Given the description of an element on the screen output the (x, y) to click on. 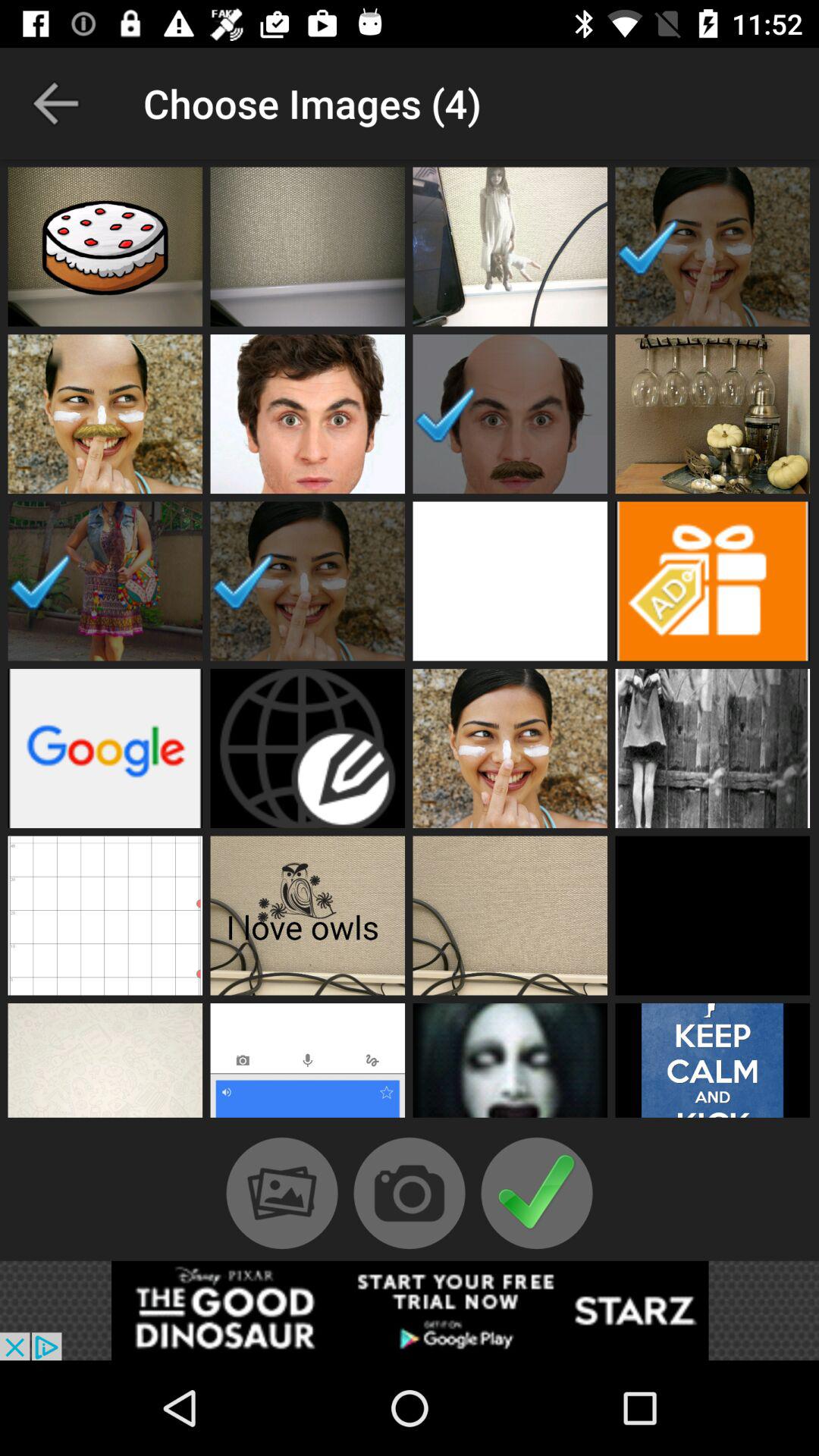
select image (509, 748)
